Given the description of an element on the screen output the (x, y) to click on. 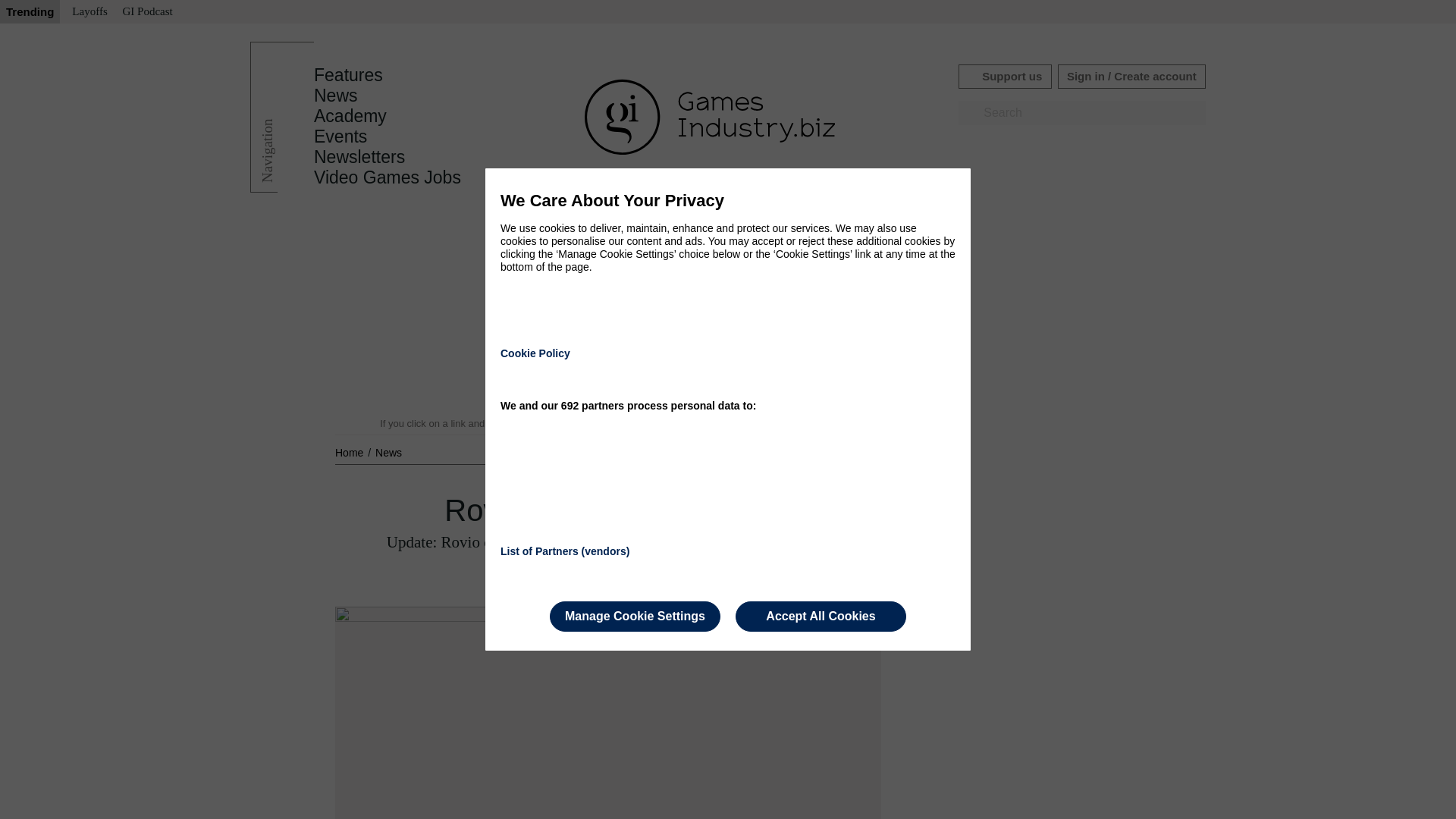
Video Games Jobs (387, 177)
Layoffs (89, 11)
Newsletters (359, 157)
Features (348, 75)
Read our editorial policy (781, 423)
Home (350, 452)
GI Podcast (146, 11)
Academy (350, 116)
News (388, 452)
News (336, 95)
